Given the description of an element on the screen output the (x, y) to click on. 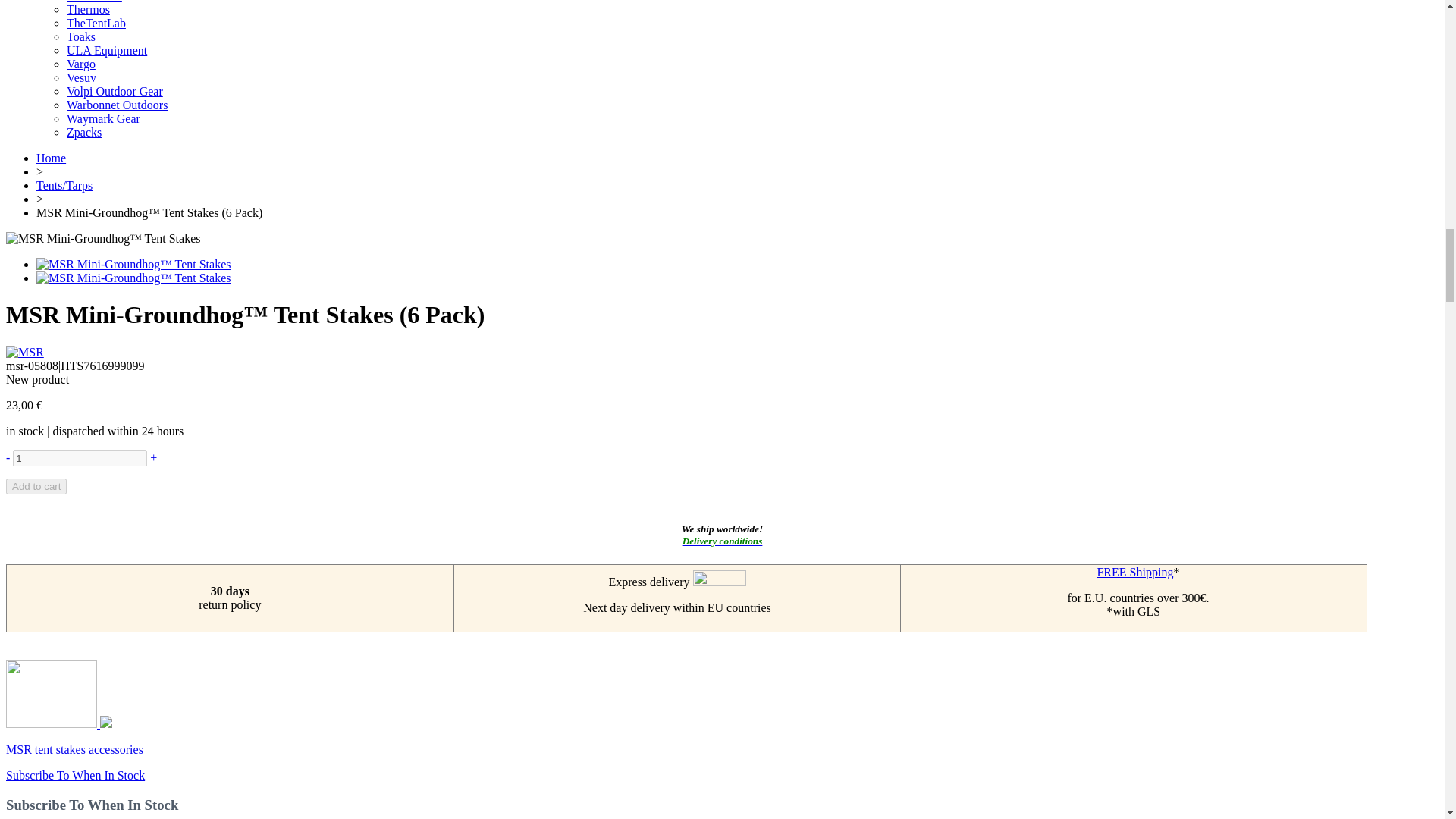
1 (80, 458)
